Given the description of an element on the screen output the (x, y) to click on. 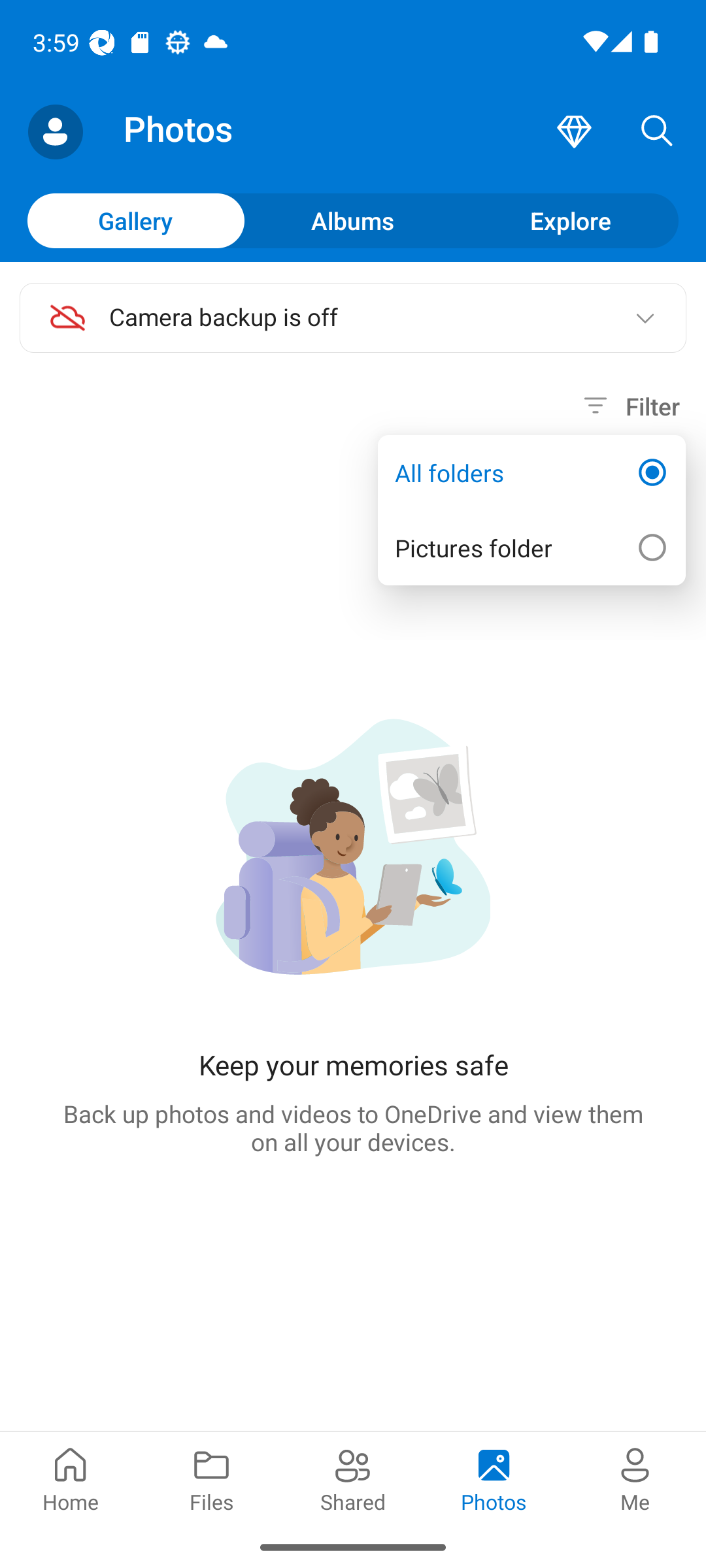
All folders (531, 472)
Pictures folder (531, 546)
